Given the description of an element on the screen output the (x, y) to click on. 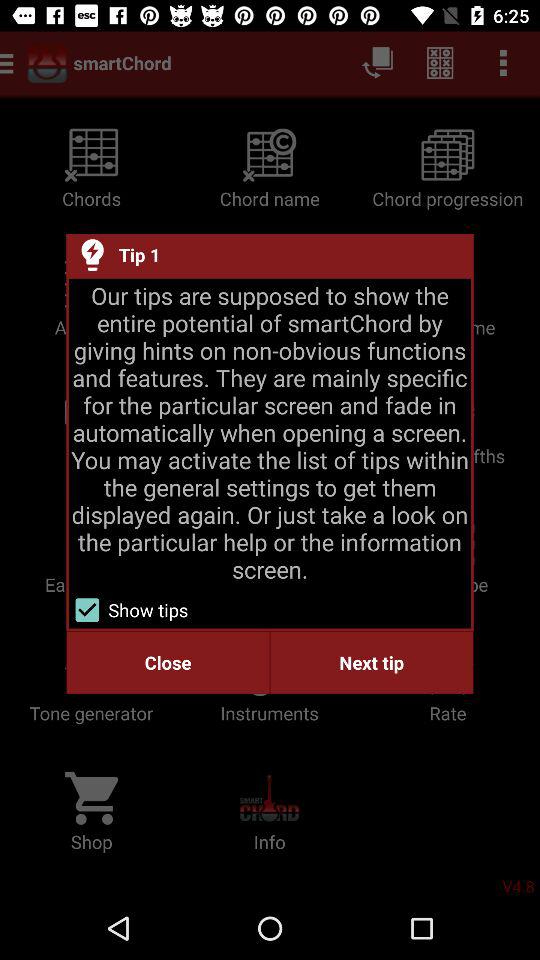
turn on icon next to next tip (168, 662)
